Given the description of an element on the screen output the (x, y) to click on. 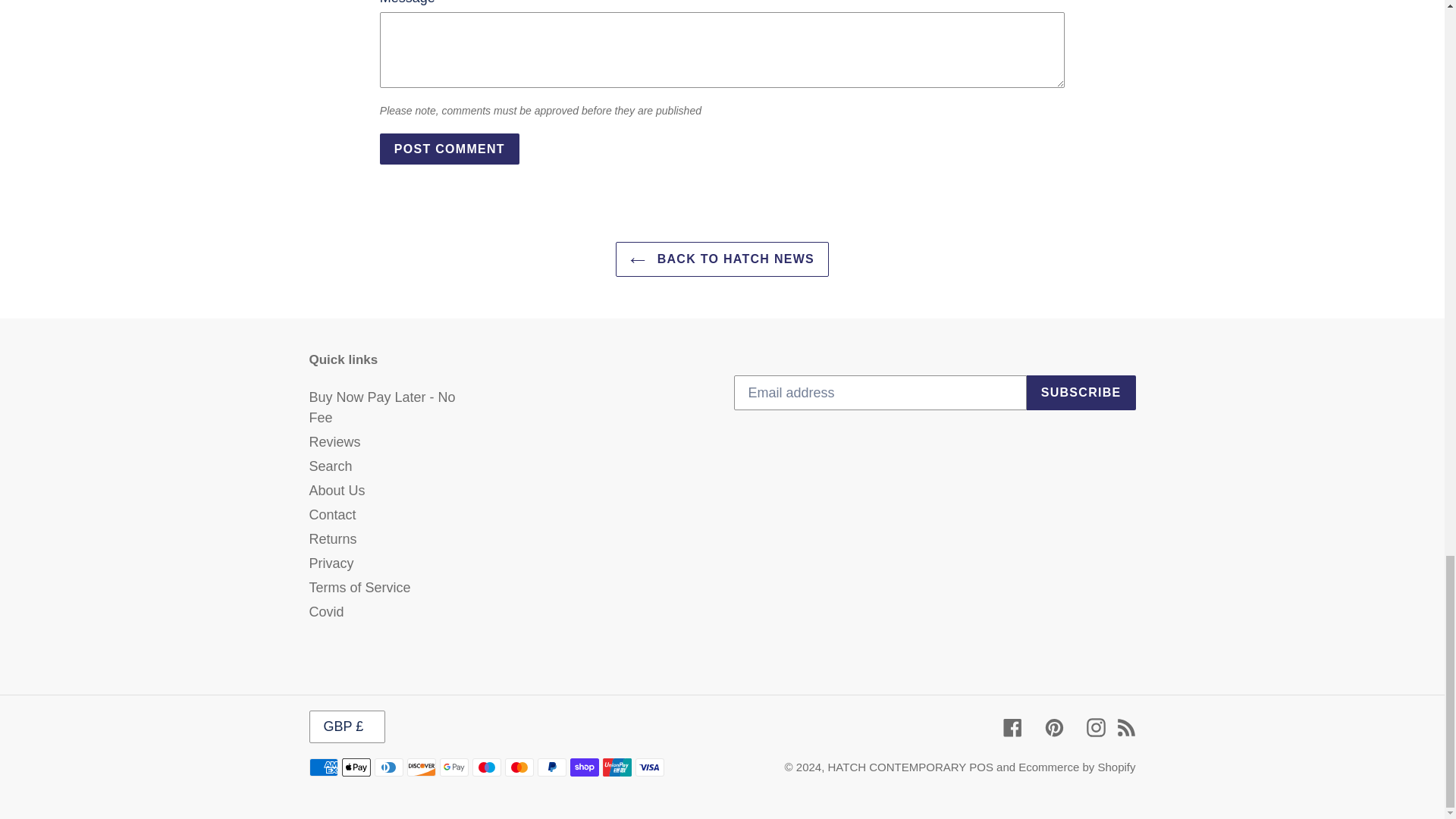
Reviews (334, 441)
BACK TO HATCH NEWS (721, 258)
Post comment (449, 148)
Buy Now Pay Later - No Fee (381, 407)
Search (330, 466)
Post comment (449, 148)
